Given the description of an element on the screen output the (x, y) to click on. 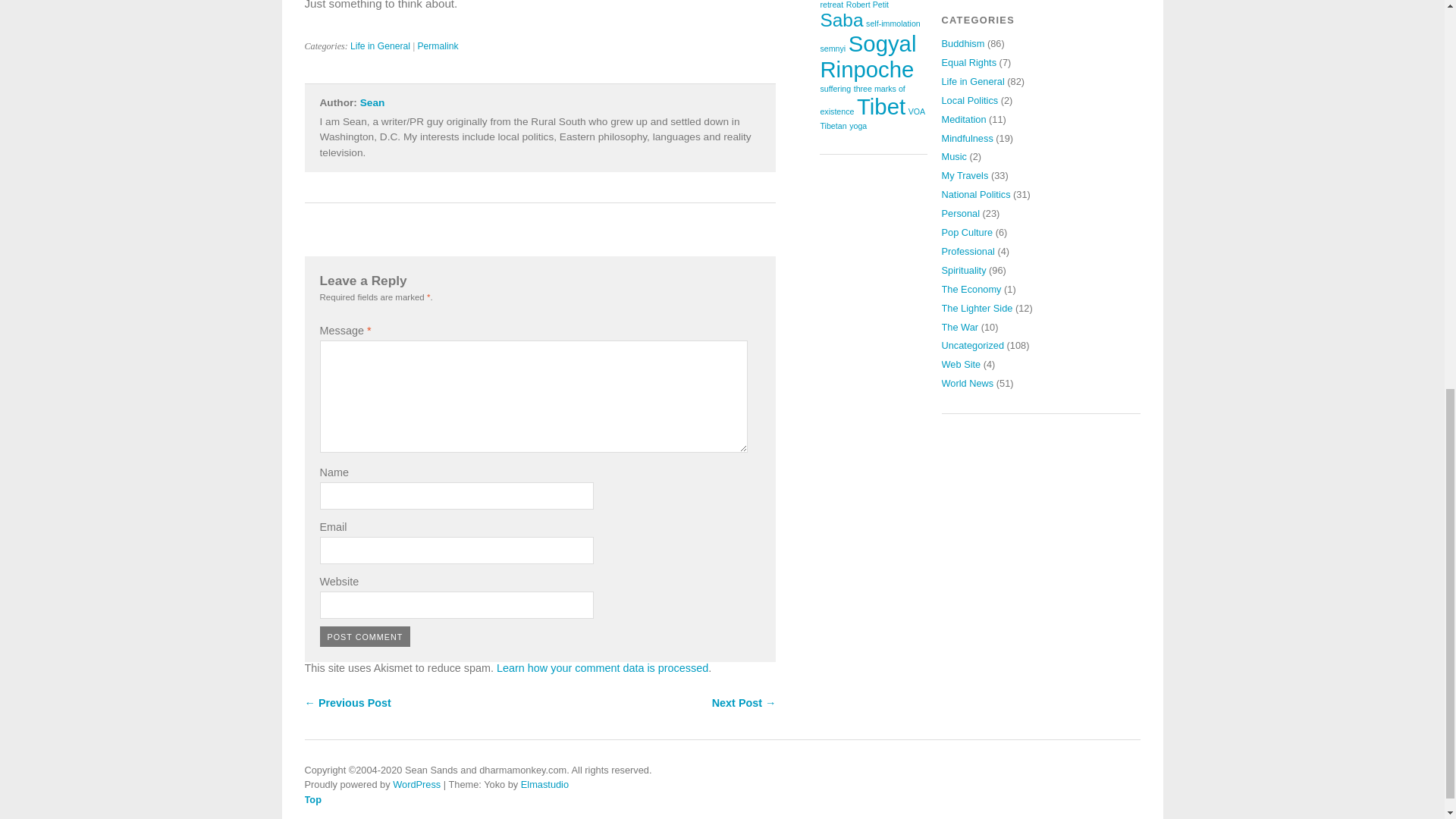
Sean (372, 102)
Post Comment (365, 636)
Sean (372, 102)
Permalink (437, 45)
Life in General (380, 45)
Post Comment (365, 636)
Learn how your comment data is processed (601, 667)
